Given the description of an element on the screen output the (x, y) to click on. 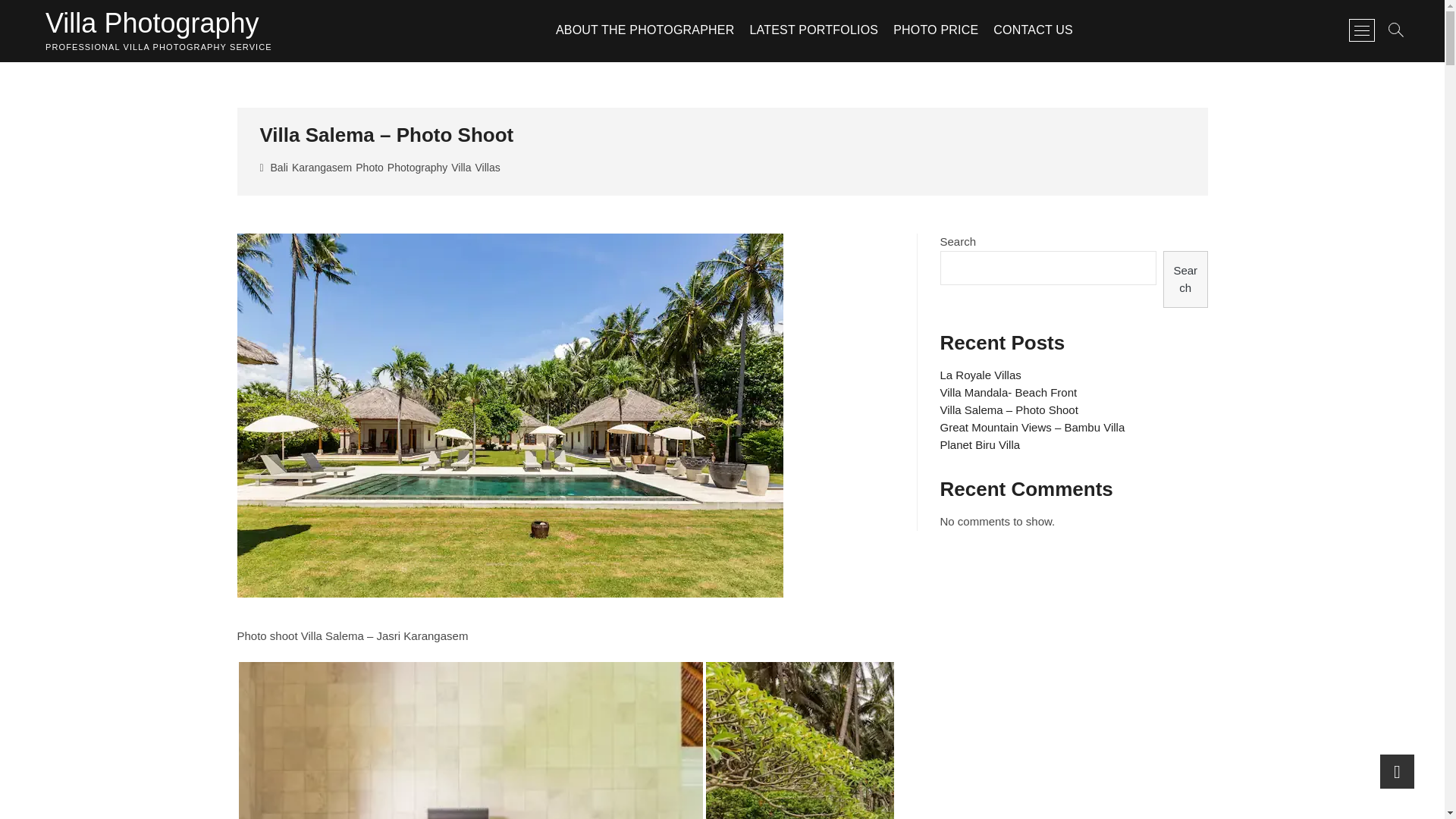
Bali (281, 169)
LATEST PORTFOLIOS (813, 30)
PHOTO PRICE (935, 30)
ABOUT THE PHOTOGRAPHER (645, 30)
Villa Photography (158, 23)
Photography (419, 169)
Villas (488, 169)
CONTACT US (1032, 30)
Karangasem (323, 169)
Villa (462, 169)
